Given the description of an element on the screen output the (x, y) to click on. 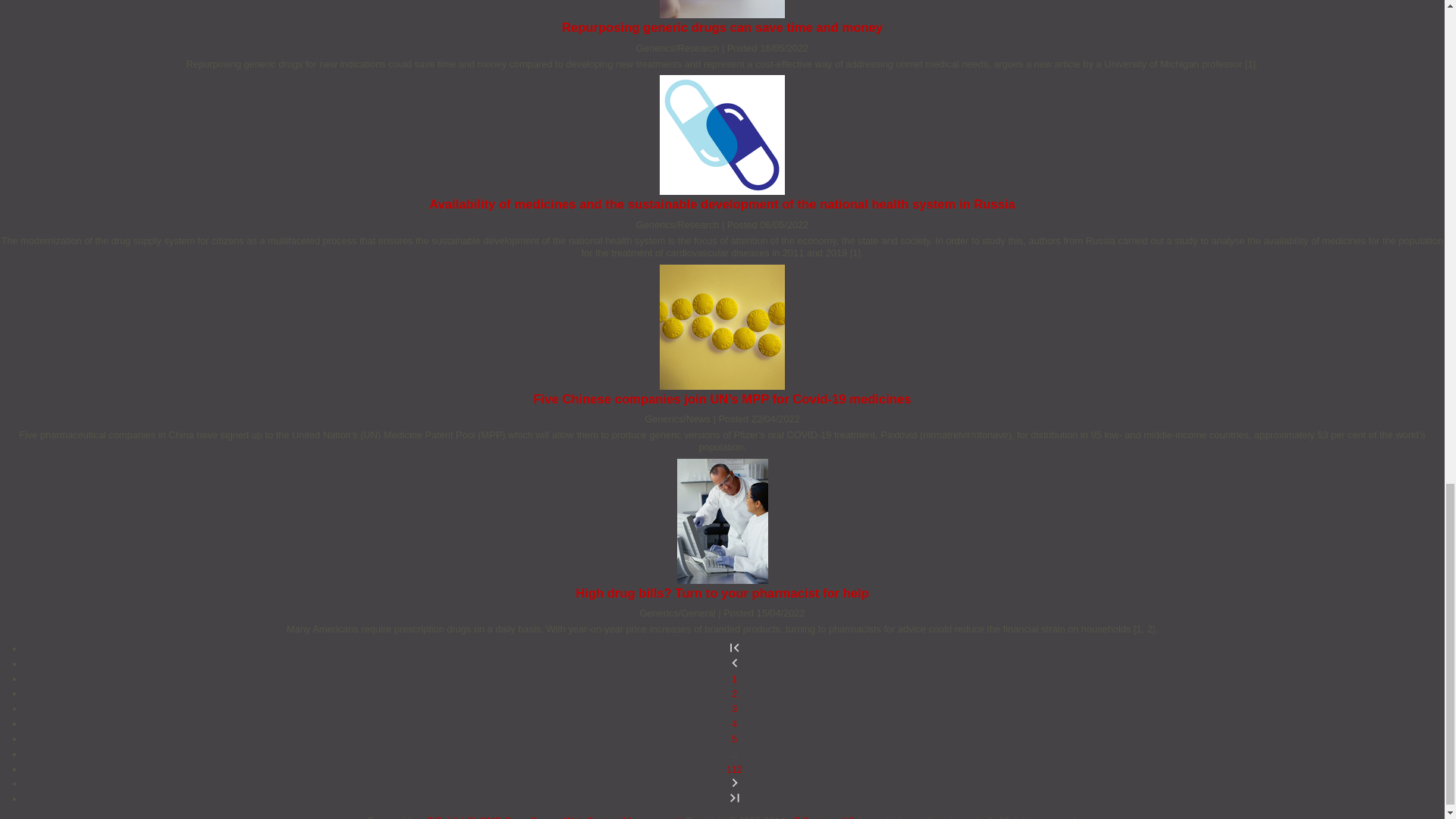
52 MD002433 (721, 326)
Repurposing generic drugs can save time and money (722, 27)
77 MD002338 (721, 9)
High drug bills? Turn to your pharmacist for help (722, 593)
112 (734, 768)
Capsules visual V16A24DG (721, 134)
